Given the description of an element on the screen output the (x, y) to click on. 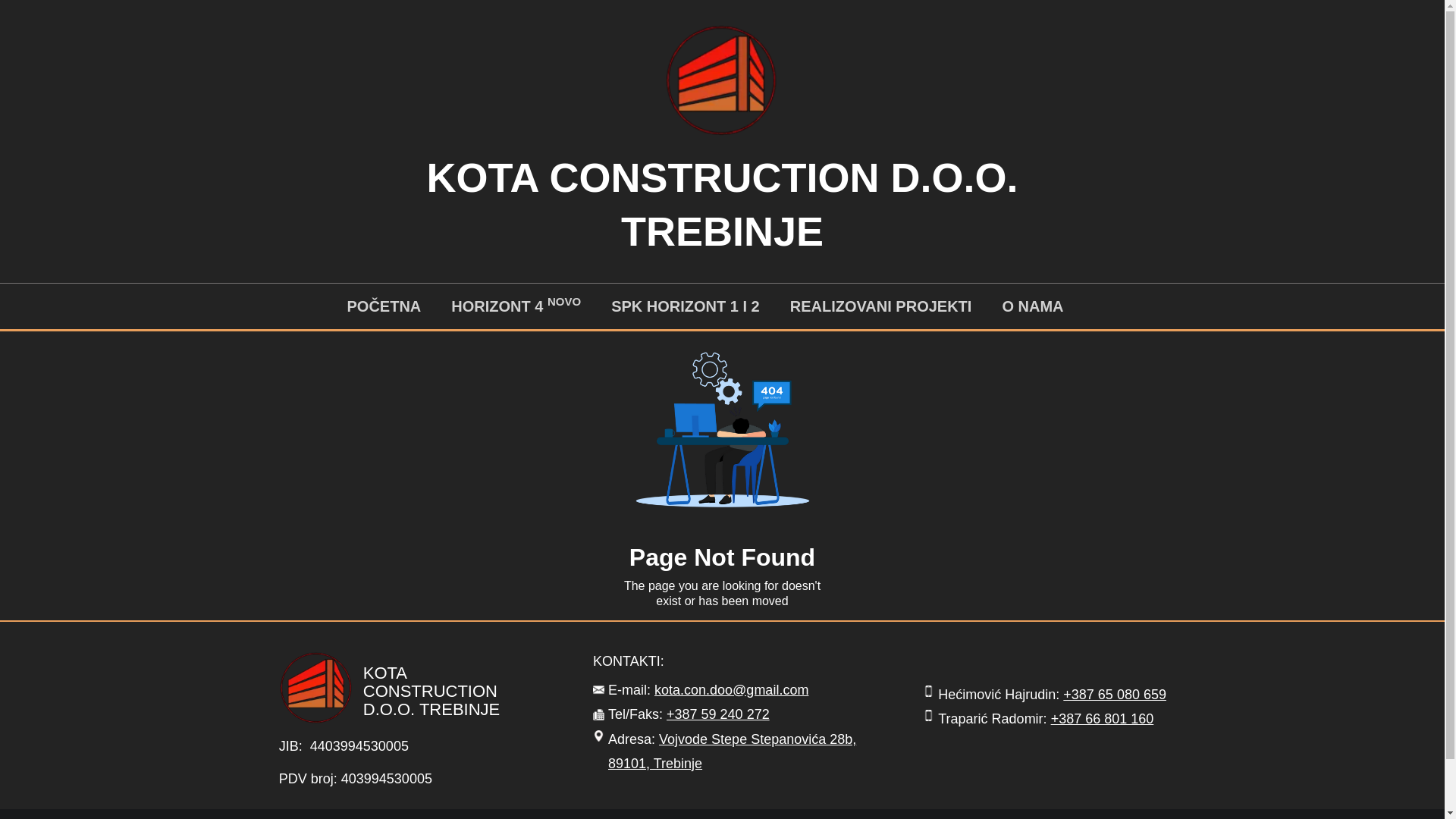
SPK HORIZONT 1 I 2 Element type: text (685, 306)
REALIZOVANI PROJEKTI Element type: text (881, 306)
HORIZONT 4 NOVO Element type: text (516, 306)
+387 59 240 272 Element type: text (717, 714)
O NAMA Element type: text (1032, 306)
+387 65 080 659 Element type: text (1114, 694)
kota.con.doo@gmail.com Element type: text (731, 689)
+387 66 801 160 Element type: text (1102, 718)
